Given the description of an element on the screen output the (x, y) to click on. 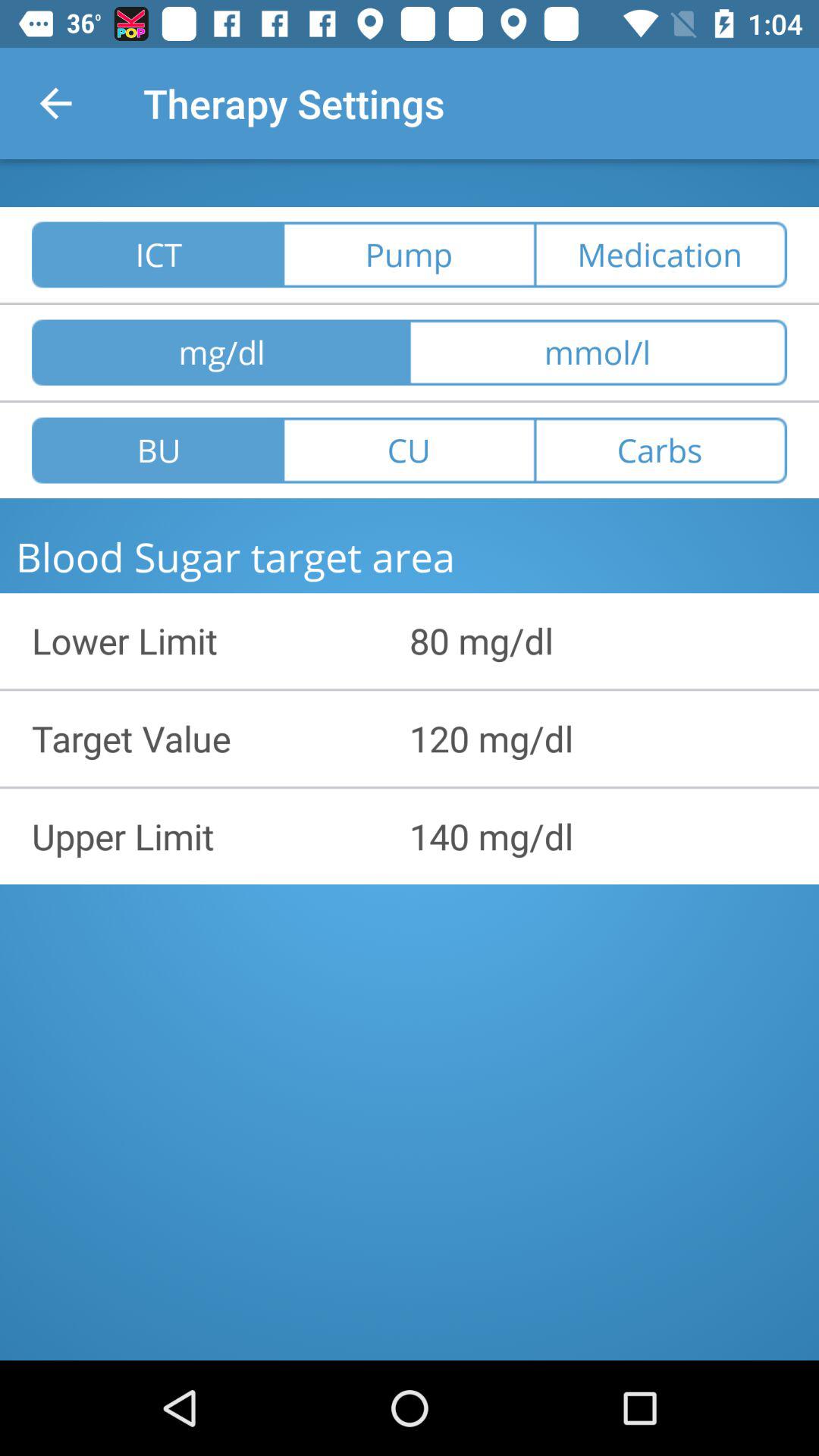
click icon to the left of the pump icon (157, 254)
